Given the description of an element on the screen output the (x, y) to click on. 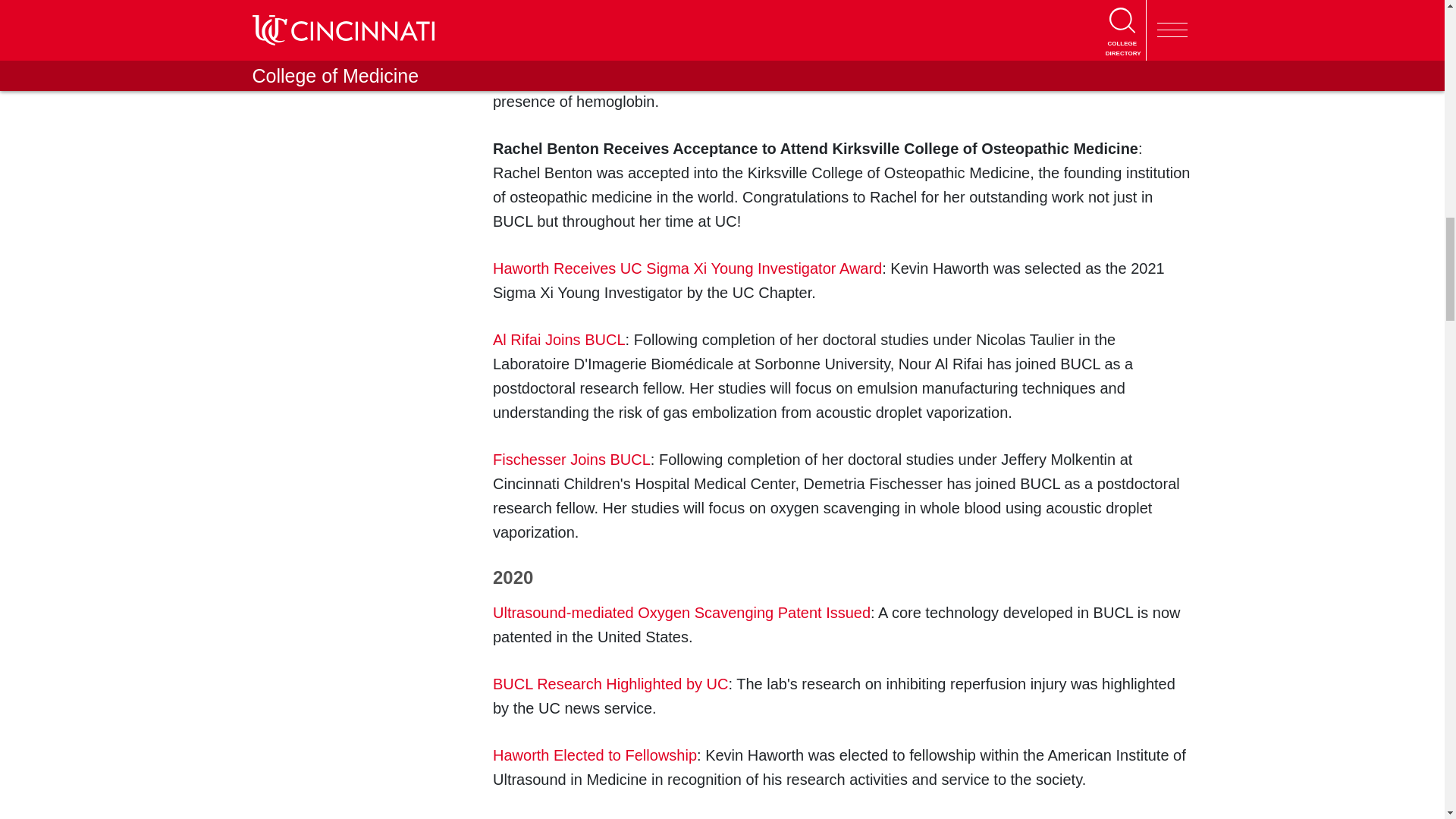
Patent 10688039 (681, 612)
